Given the description of an element on the screen output the (x, y) to click on. 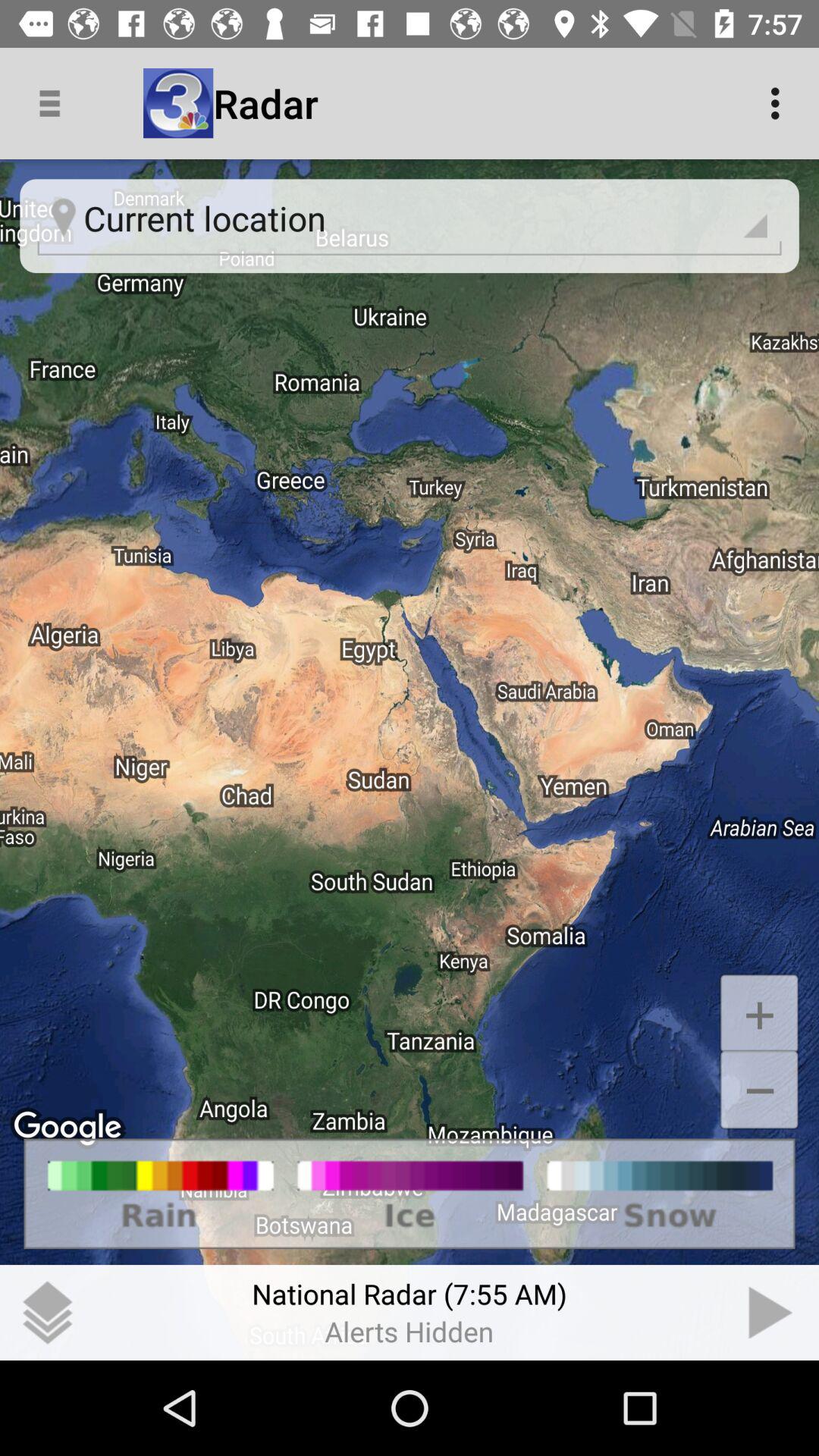
choose the item to the right of the  (7:55 am) item (771, 1312)
